Given the description of an element on the screen output the (x, y) to click on. 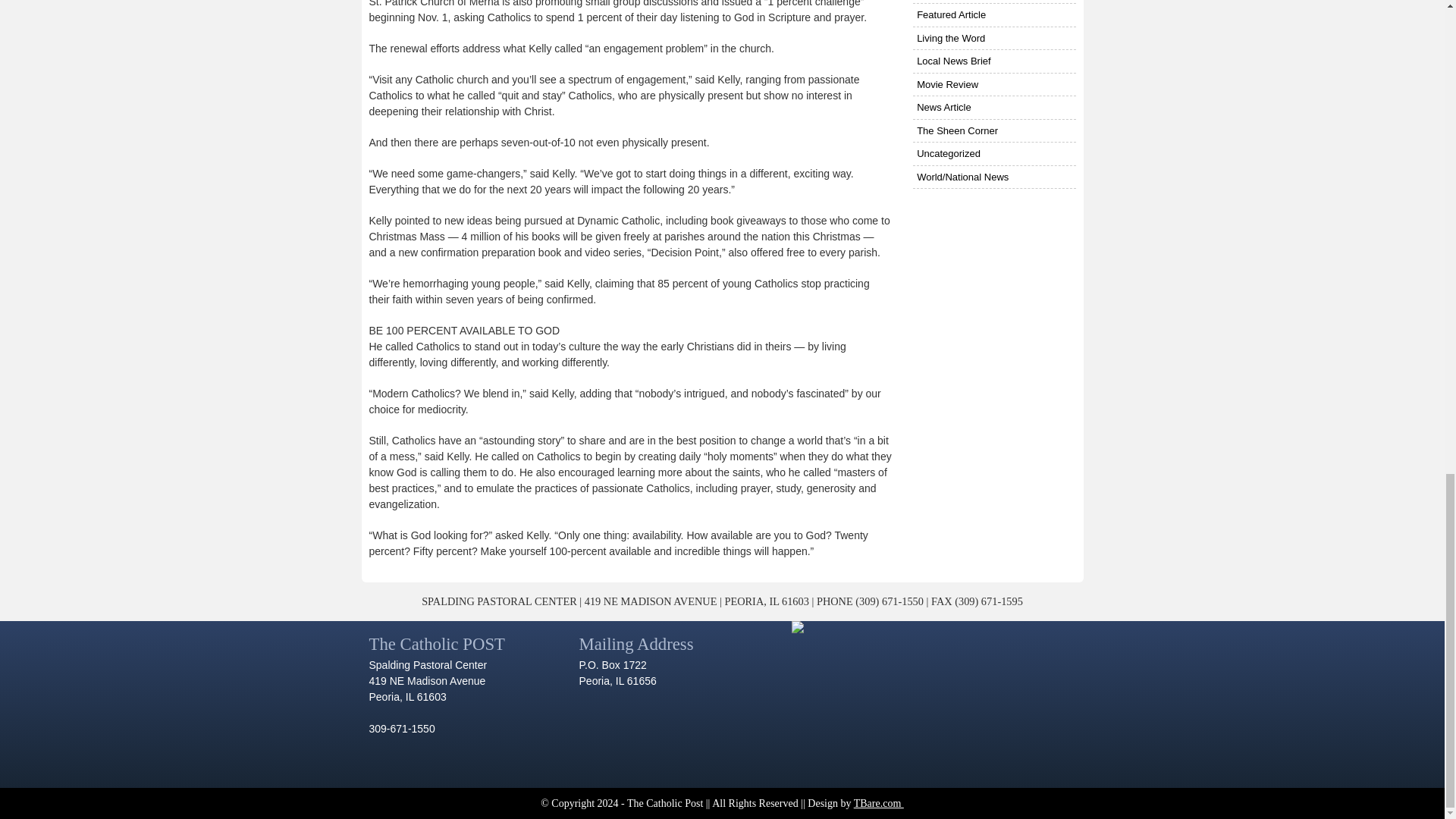
Featured Article (993, 15)
Local News Brief (993, 60)
Editorial (993, 2)
Living the Word (993, 38)
